Given the description of an element on the screen output the (x, y) to click on. 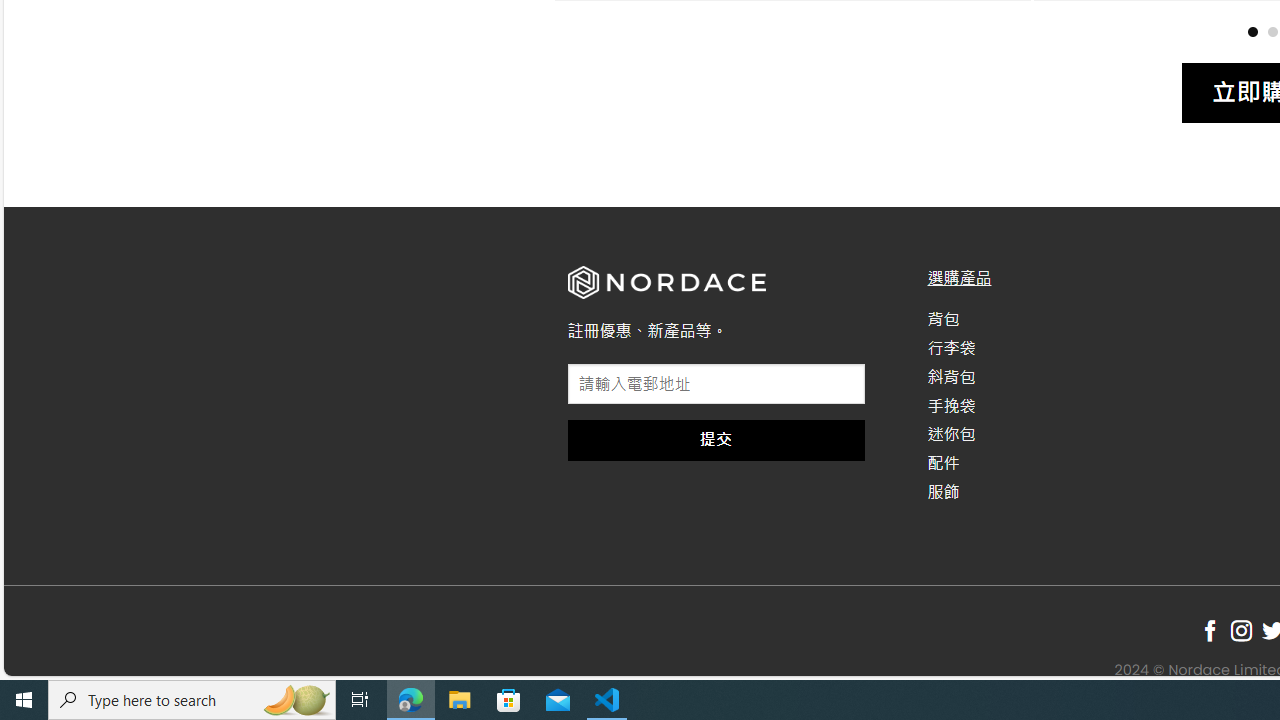
Page dot 1 (1252, 30)
AutomationID: field_4_1 (716, 386)
